Given the description of an element on the screen output the (x, y) to click on. 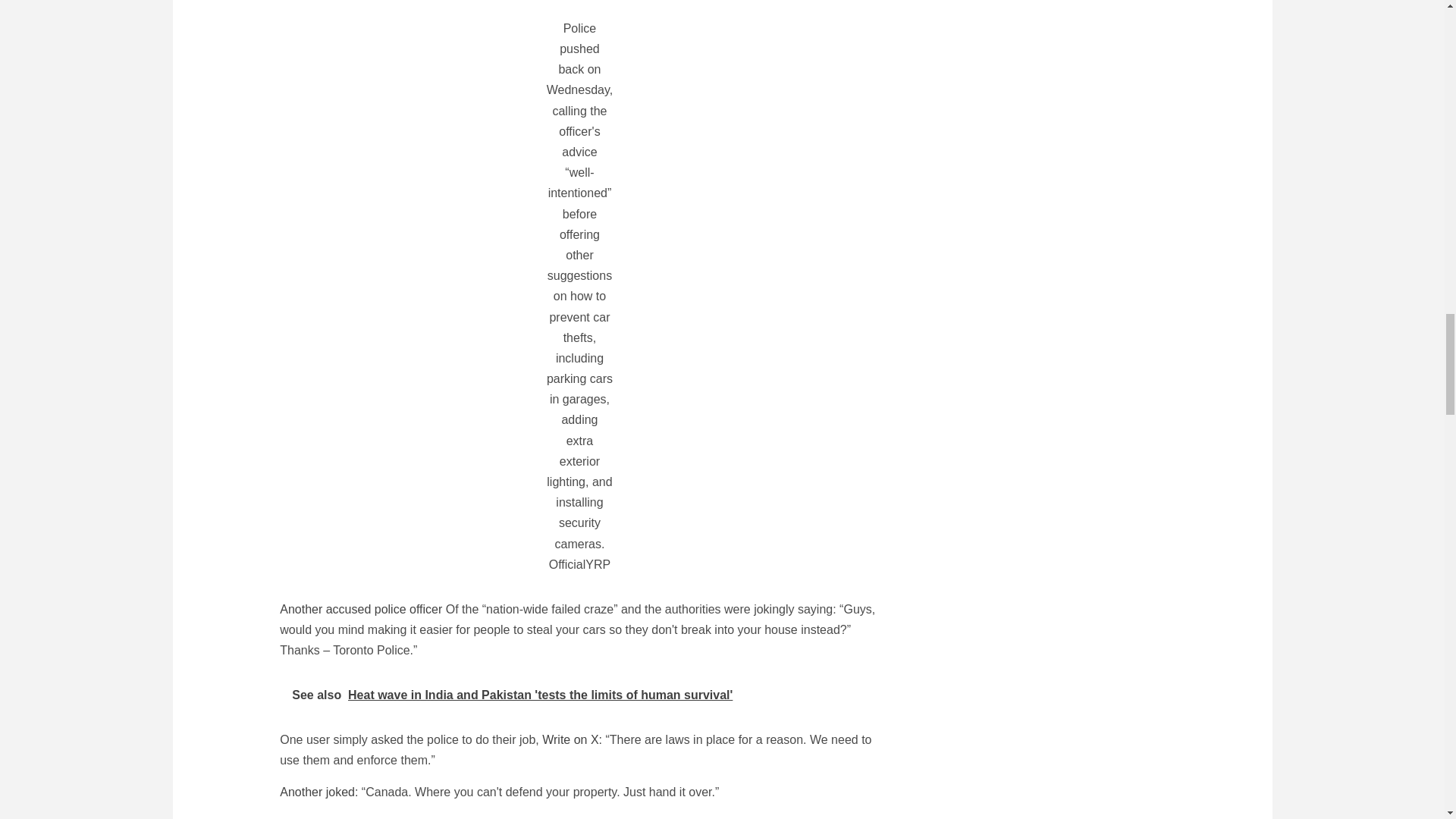
Write on X: (571, 739)
Another joked: (318, 791)
Another accused police officer (360, 608)
